Given the description of an element on the screen output the (x, y) to click on. 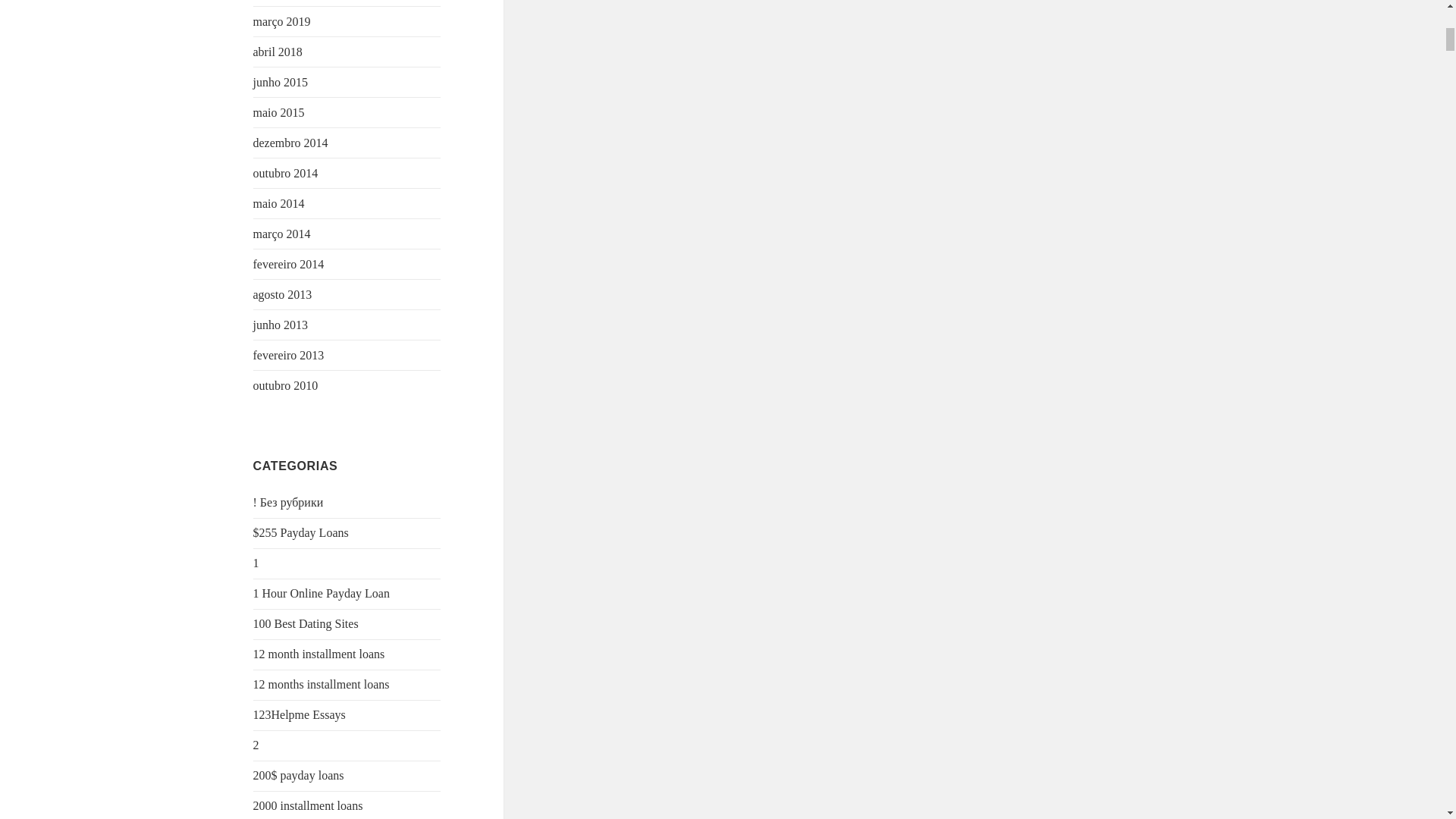
abril 2018 (277, 51)
junho 2015 (280, 82)
